Given the description of an element on the screen output the (x, y) to click on. 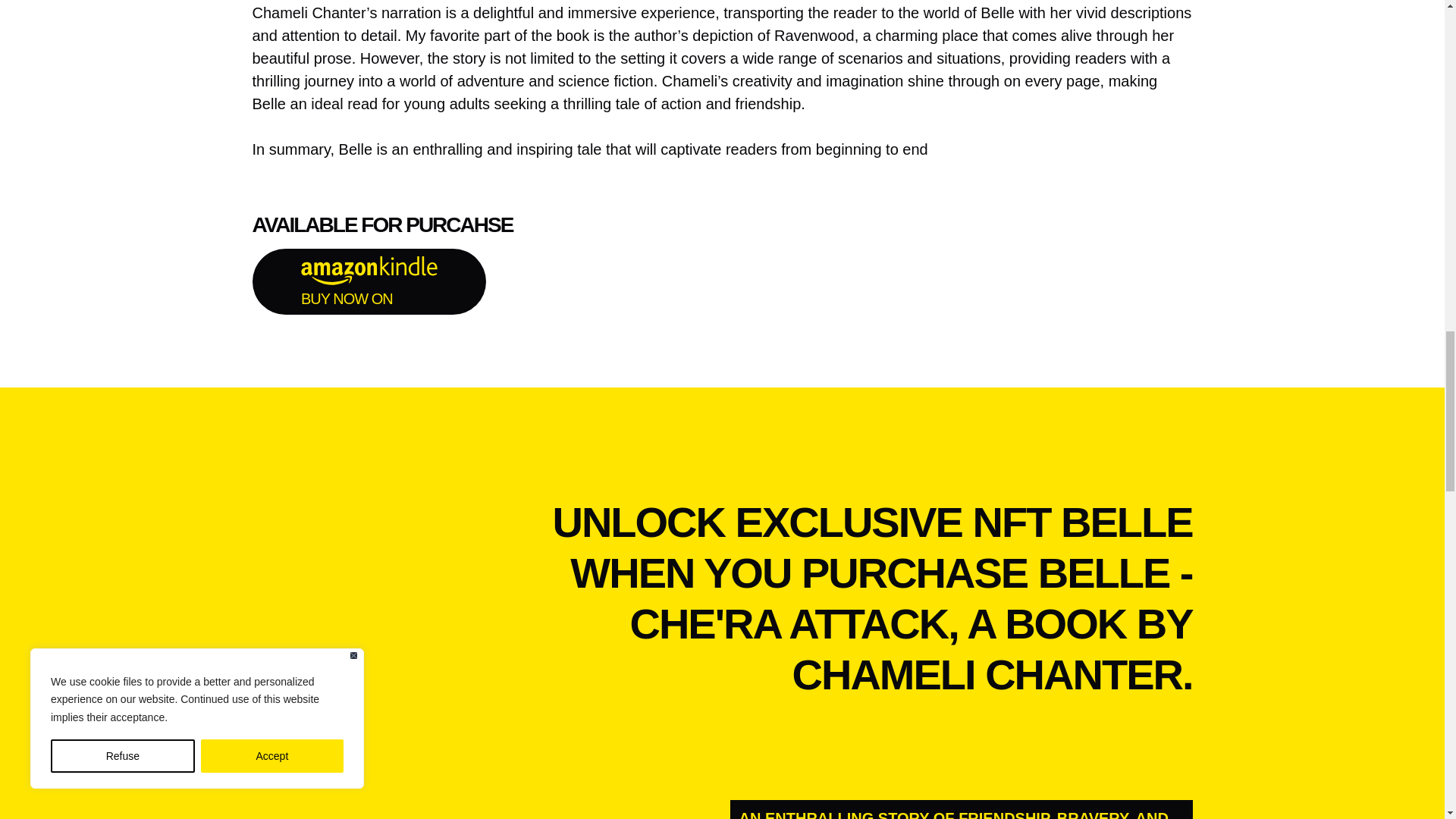
BUY NOW ON (367, 281)
